Given the description of an element on the screen output the (x, y) to click on. 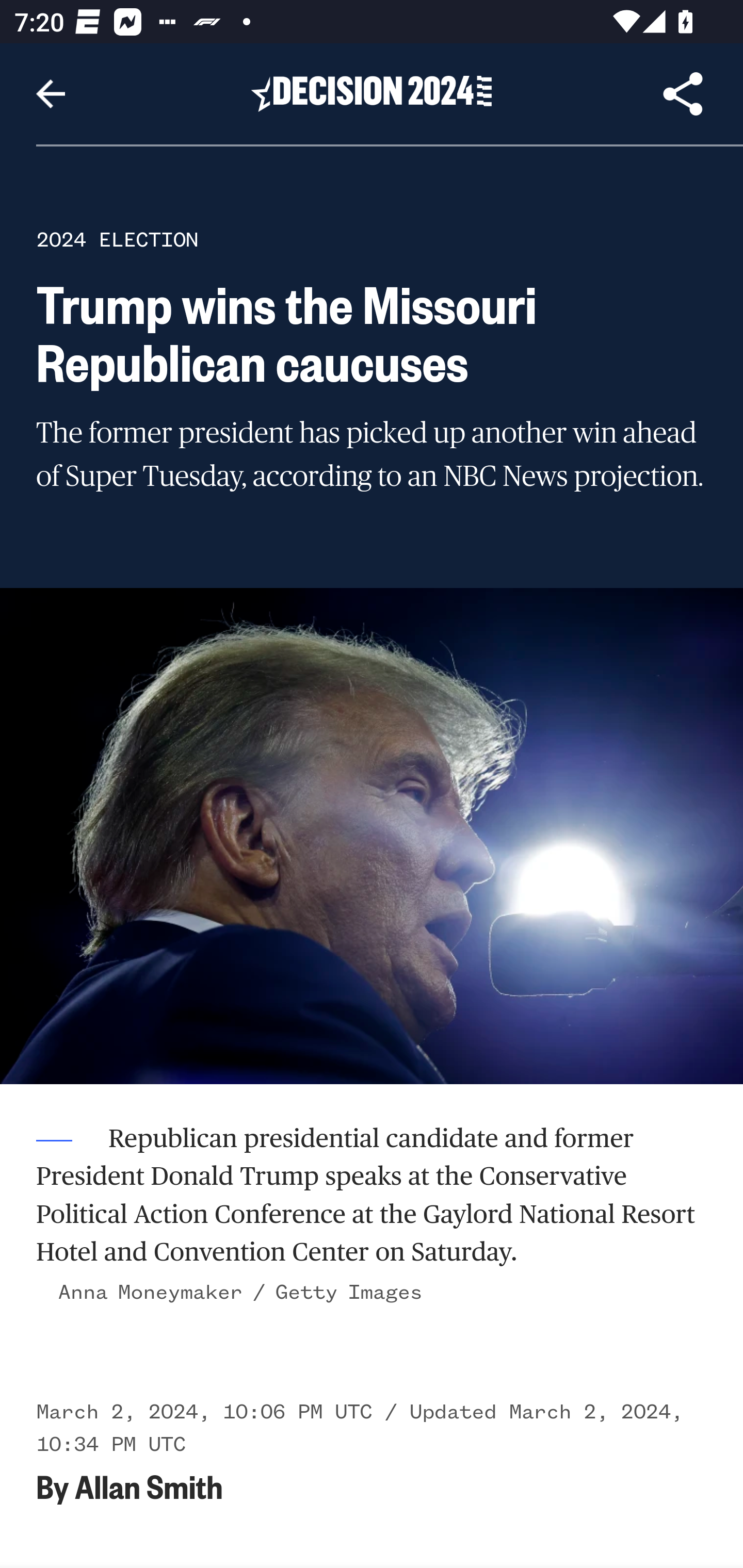
Navigate up (50, 93)
Share Article, button (683, 94)
Header, Decision 2024 (371, 93)
2024 ELECTION (117, 239)
